Given the description of an element on the screen output the (x, y) to click on. 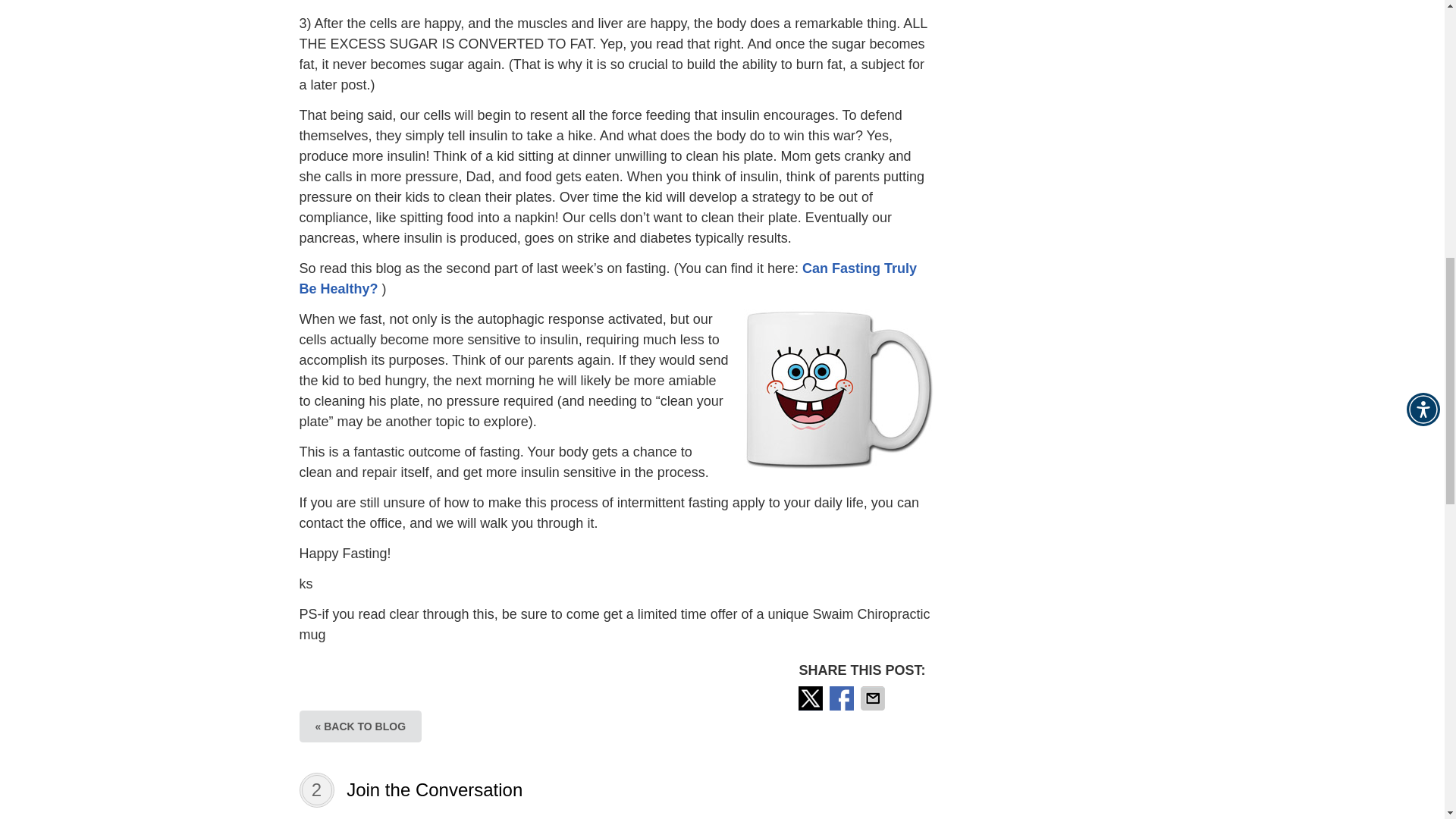
Share on Facebook (843, 698)
Share on Twitter (811, 698)
Can Fasting Truly Be Healthy? (606, 278)
